Given the description of an element on the screen output the (x, y) to click on. 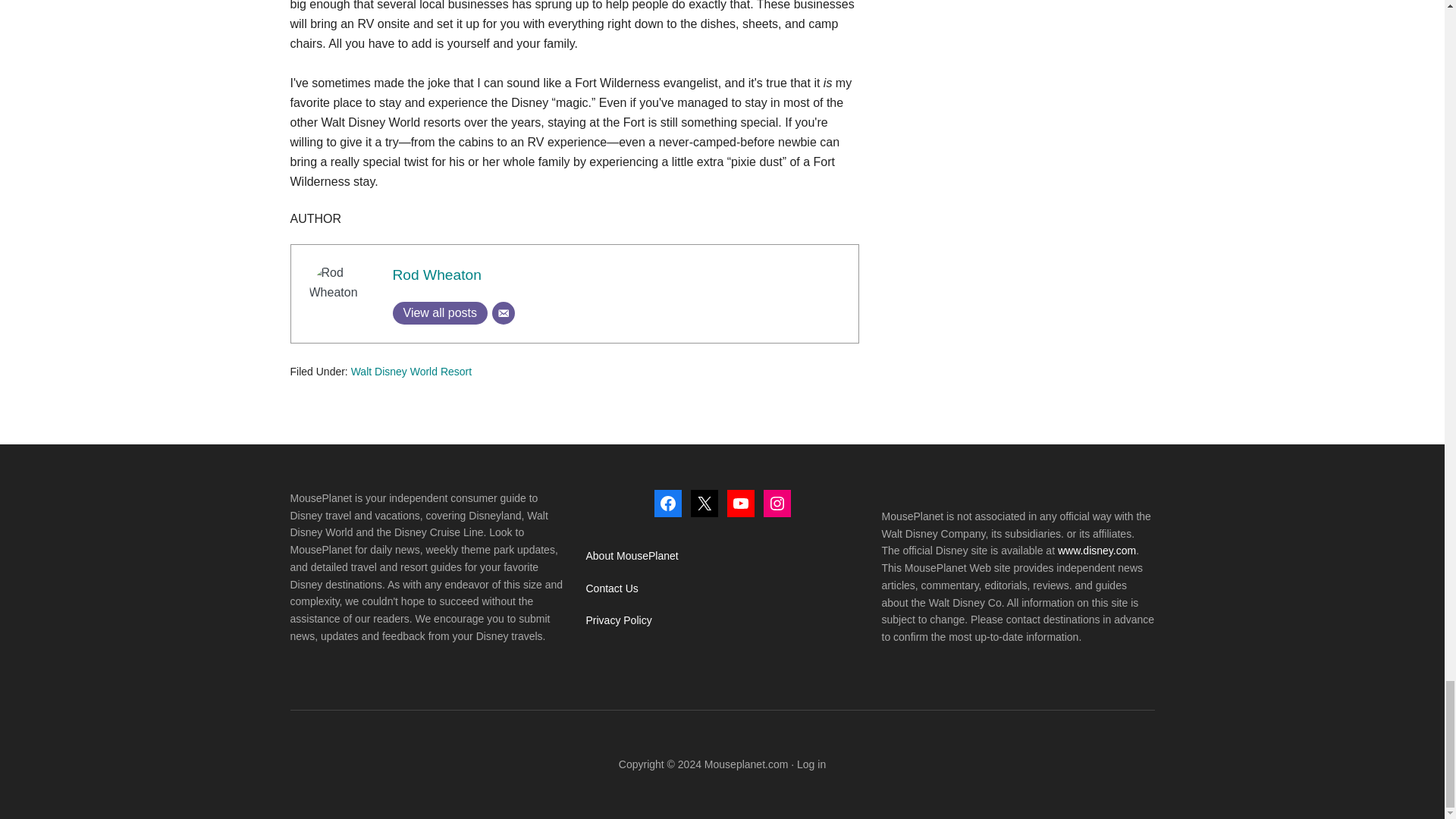
Rod Wheaton (437, 274)
X (703, 502)
Facebook (667, 502)
Privacy Policy (617, 620)
YouTube (740, 502)
About MousePlanet (631, 555)
Rod Wheaton (437, 274)
Instagram (776, 502)
Log in (810, 764)
Contact Us (611, 588)
